Given the description of an element on the screen output the (x, y) to click on. 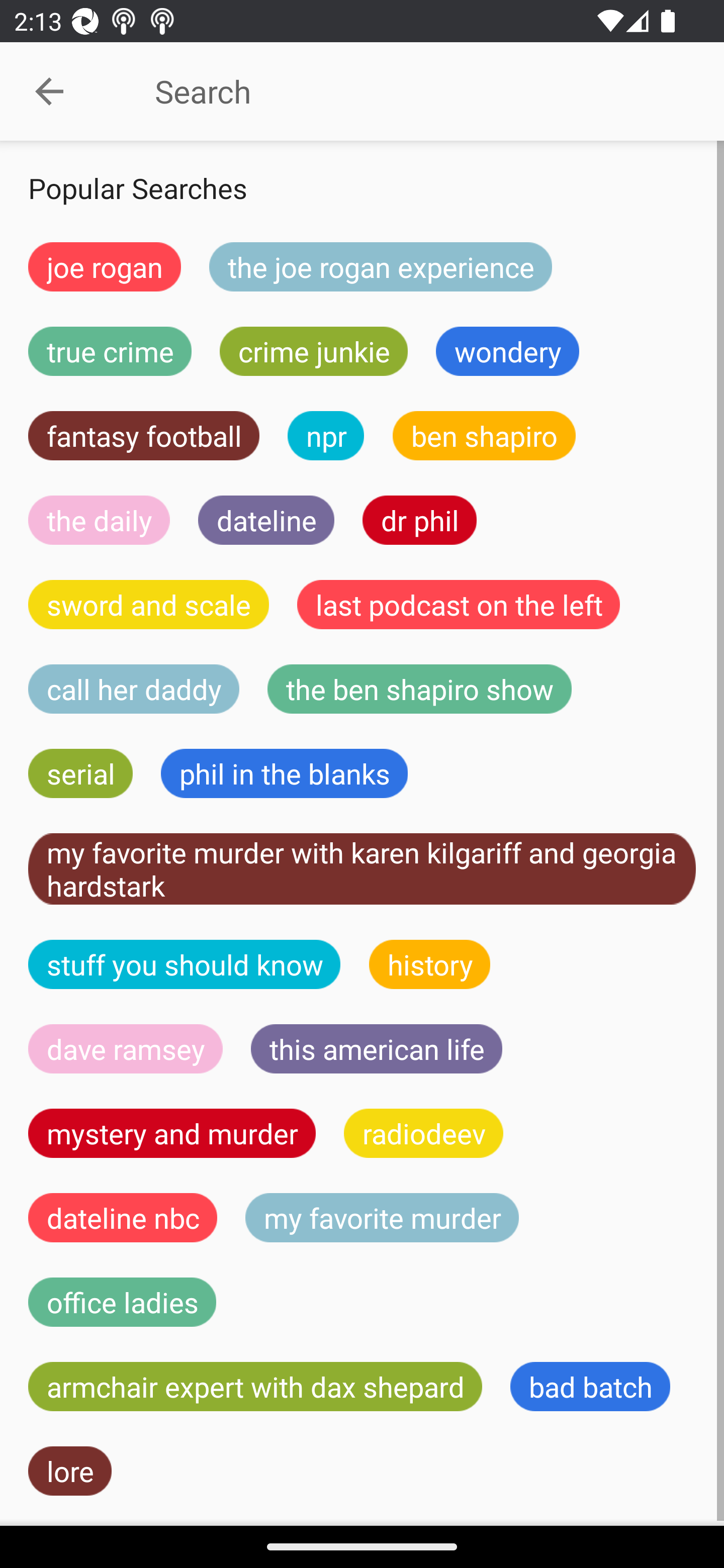
Collapse (49, 91)
Search (407, 91)
joe rogan (104, 266)
the joe rogan experience (380, 266)
true crime (109, 351)
crime junkie (313, 351)
wondery (507, 351)
fantasy football (143, 435)
npr (325, 435)
ben shapiro (483, 435)
the daily (99, 519)
dateline (266, 519)
dr phil (419, 519)
sword and scale (148, 604)
last podcast on the left (458, 604)
call her daddy (133, 688)
the ben shapiro show (419, 688)
serial (80, 773)
phil in the blanks (283, 773)
stuff you should know (184, 964)
history (429, 964)
dave ramsey (125, 1048)
this american life (376, 1048)
mystery and murder (171, 1132)
radiodeev (423, 1132)
dateline nbc (122, 1217)
my favorite murder (382, 1217)
office ladies (122, 1301)
armchair expert with dax shepard (255, 1386)
bad batch (590, 1386)
lore (70, 1470)
